Given the description of an element on the screen output the (x, y) to click on. 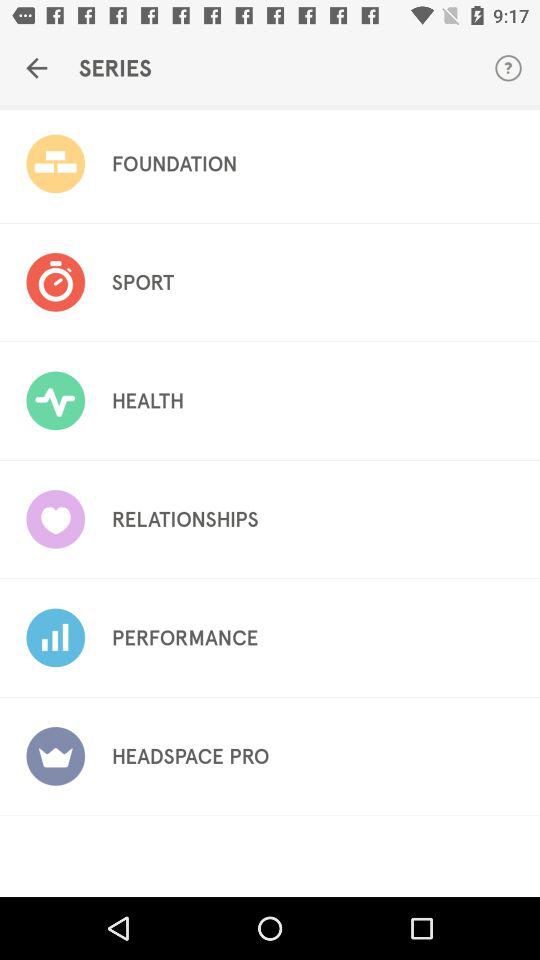
turn off the health (147, 401)
